Given the description of an element on the screen output the (x, y) to click on. 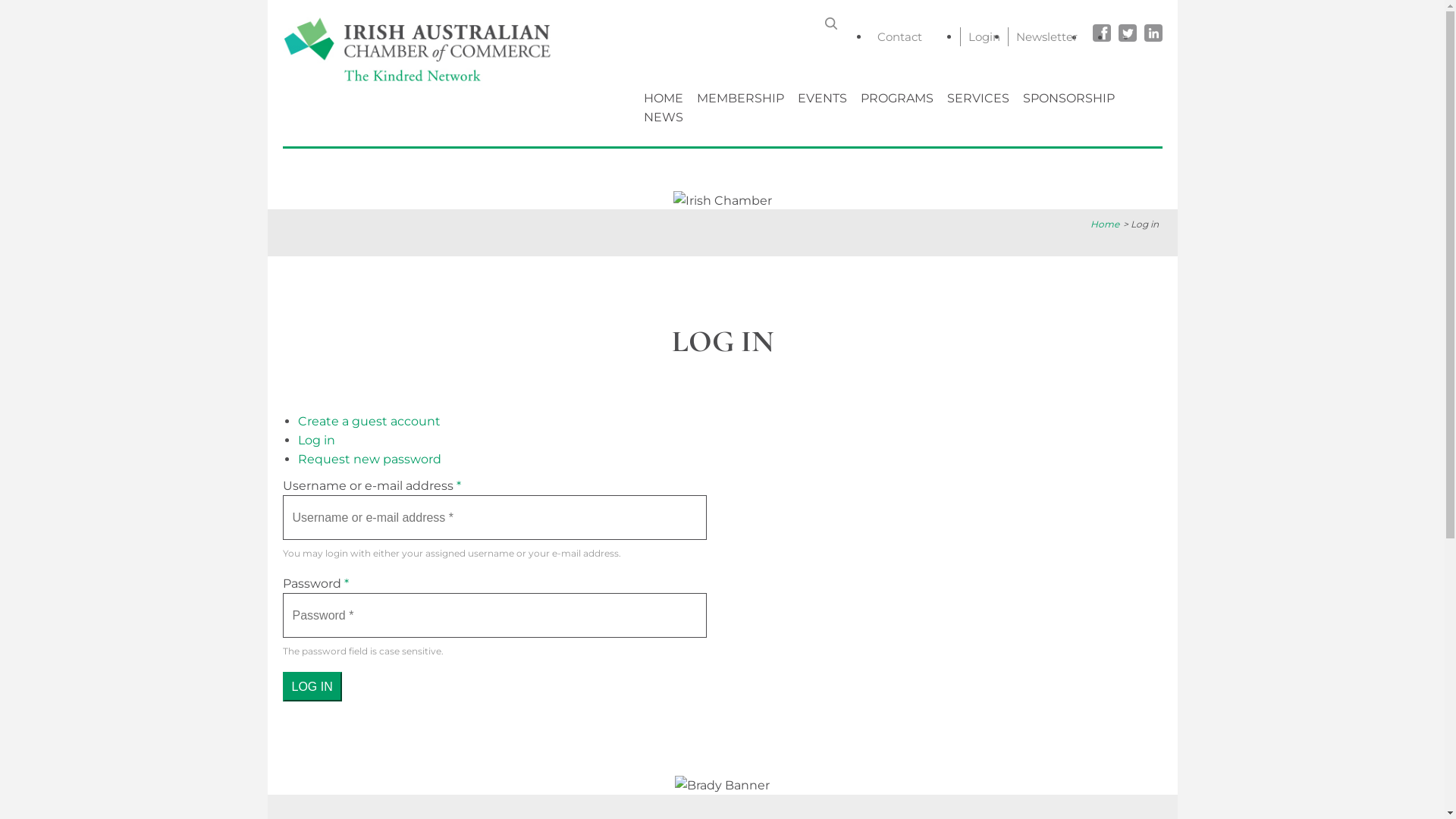
SERVICES Element type: text (977, 97)
SPONSORSHIP Element type: text (1068, 97)
Request new password Element type: text (368, 458)
HOME Element type: text (663, 97)
EVENTS Element type: text (822, 97)
Home Element type: hover (425, 85)
Login Element type: text (983, 36)
Log in
(active tab) Element type: text (315, 440)
LOG IN Element type: text (311, 686)
Create a guest account Element type: text (368, 421)
Contact Element type: text (898, 36)
Newsletter Element type: text (1046, 36)
Home Element type: text (1106, 223)
Skip to main content Element type: text (0, 0)
PROGRAMS Element type: text (896, 97)
NEWS Element type: text (663, 116)
MEMBERSHIP Element type: text (740, 97)
